Given the description of an element on the screen output the (x, y) to click on. 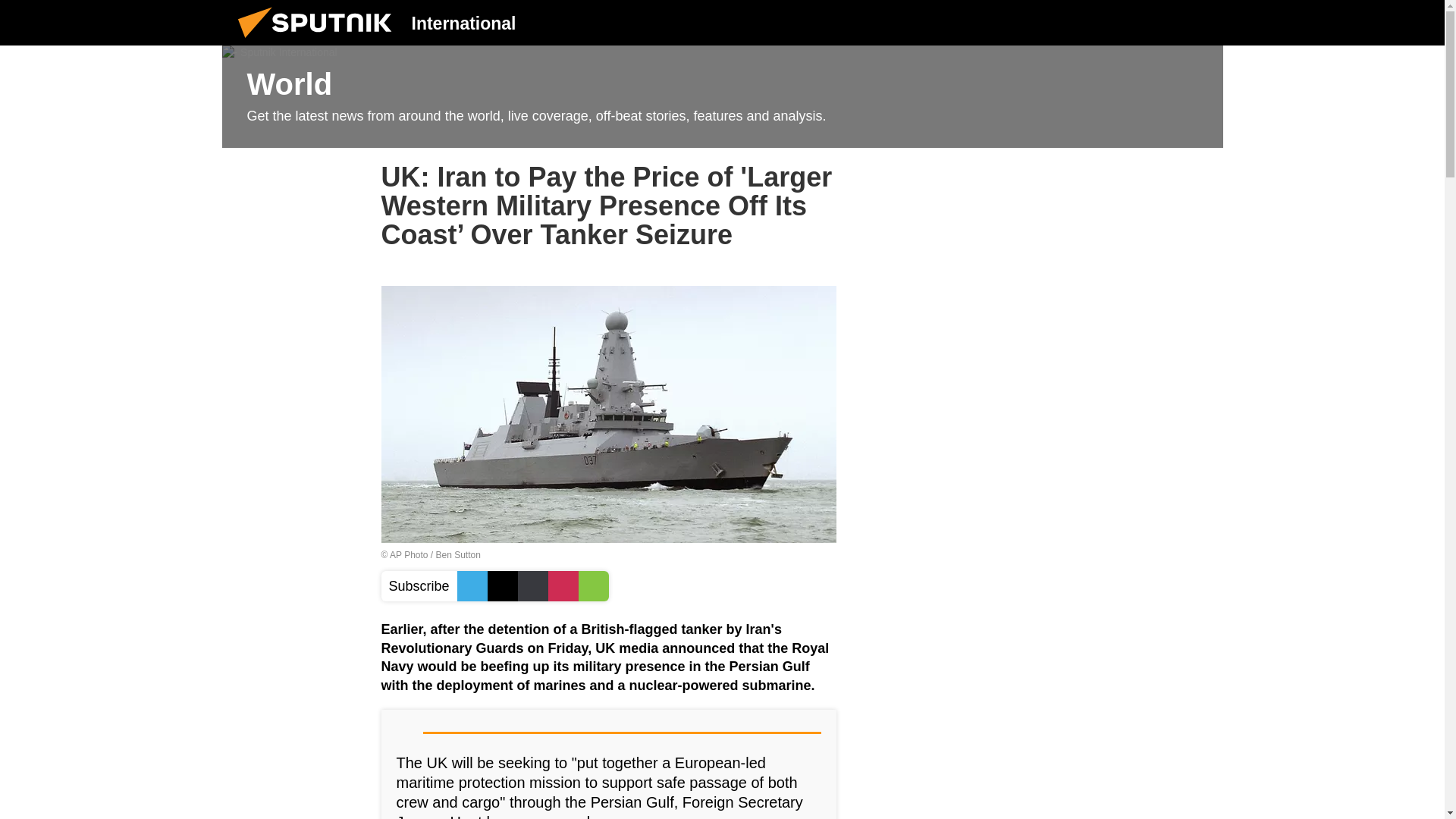
World (722, 96)
Chats (1199, 22)
Authorization (1123, 22)
Sputnik International (319, 41)
